Given the description of an element on the screen output the (x, y) to click on. 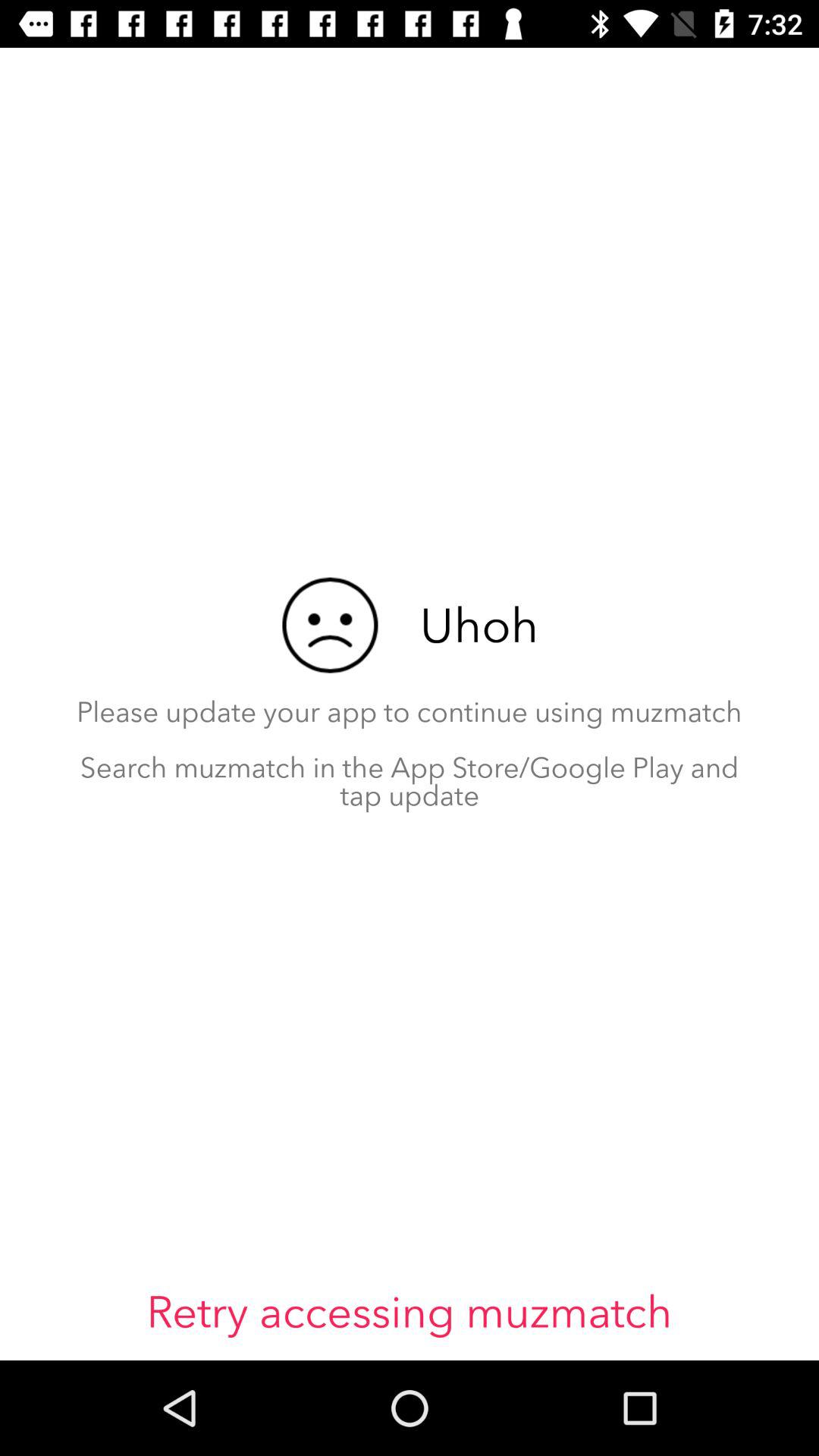
click retry accessing muzmatch icon (409, 1312)
